Given the description of an element on the screen output the (x, y) to click on. 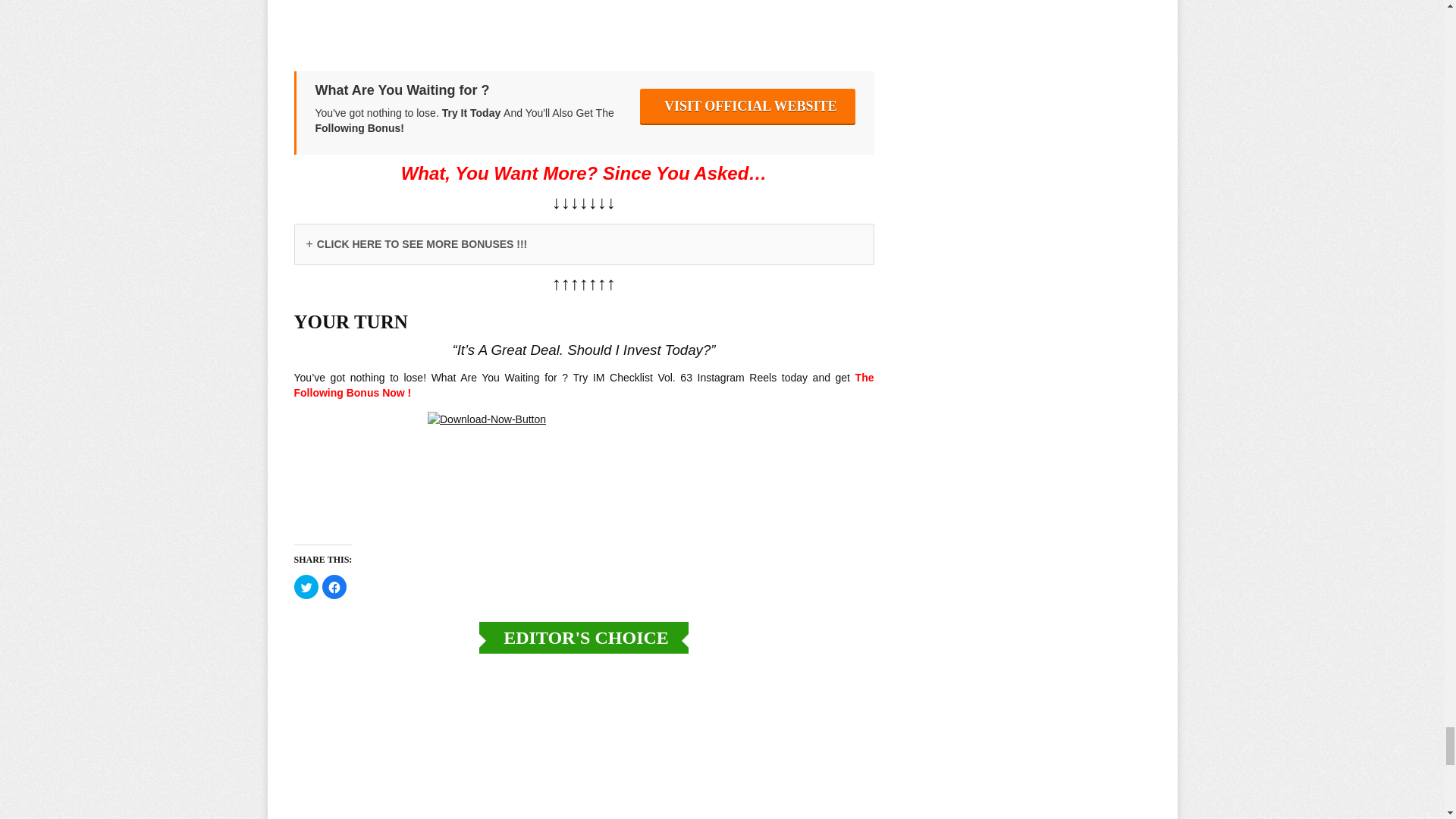
Click to share on Facebook (333, 586)
Click to share on Twitter (306, 586)
